Given the description of an element on the screen output the (x, y) to click on. 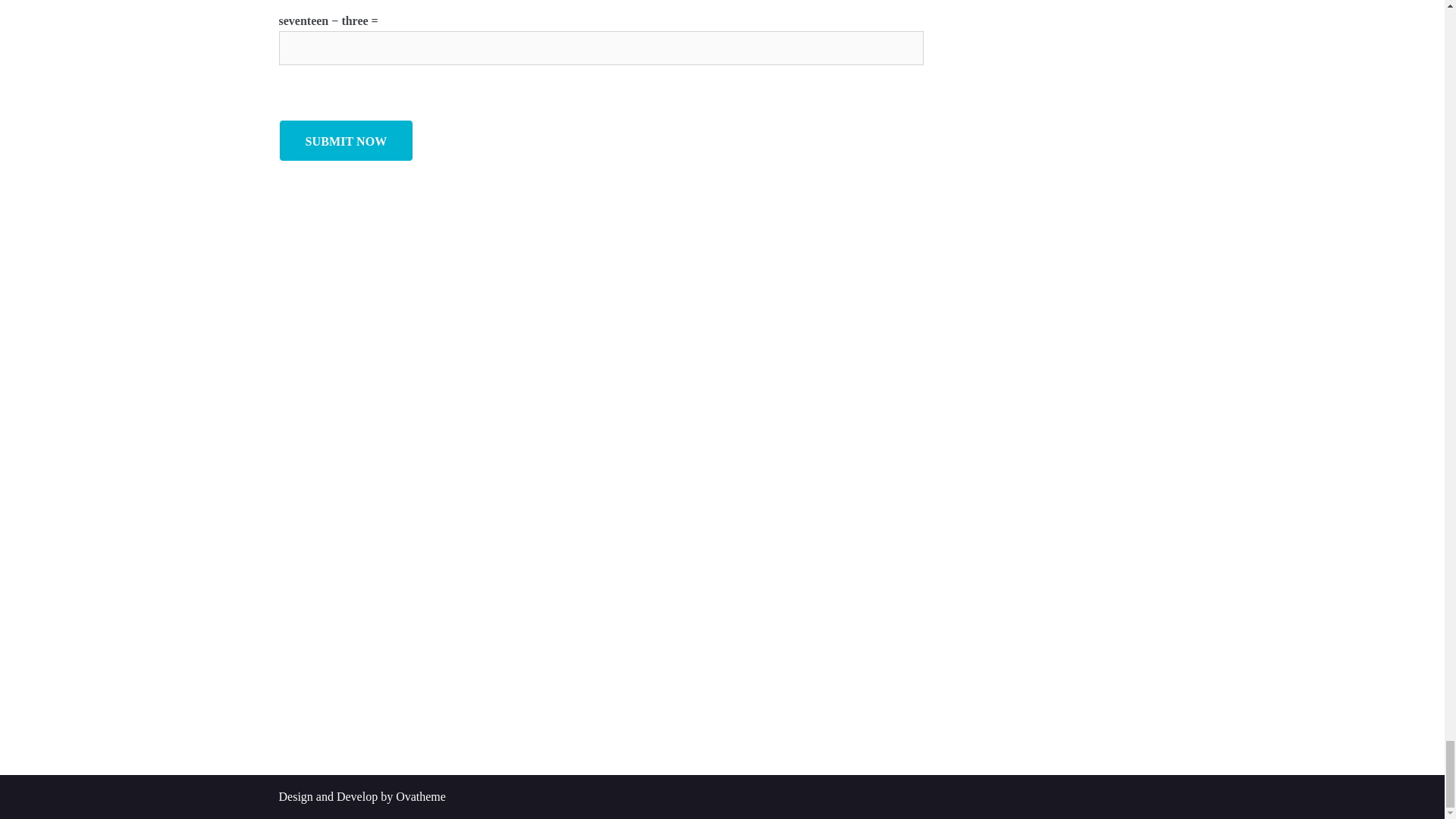
Submit Now (346, 140)
Submit Now (346, 140)
